Given the description of an element on the screen output the (x, y) to click on. 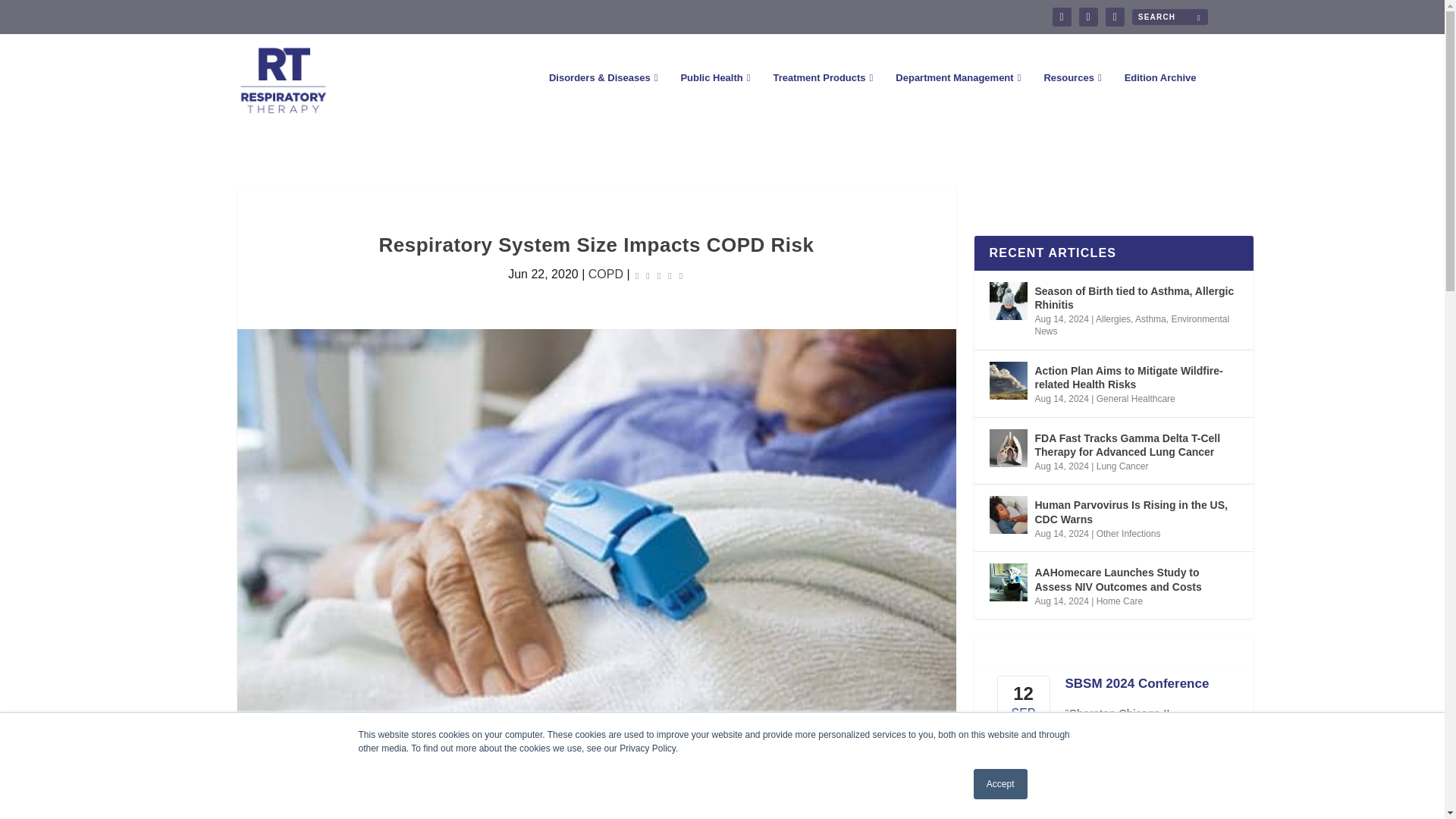
Rating: 0.00 (658, 274)
Public Health (714, 98)
Treatment Products (822, 98)
Department Management (957, 98)
Accept (1000, 784)
Resources (1071, 98)
Edition Archive (1160, 98)
Search for: (1169, 17)
